Given the description of an element on the screen output the (x, y) to click on. 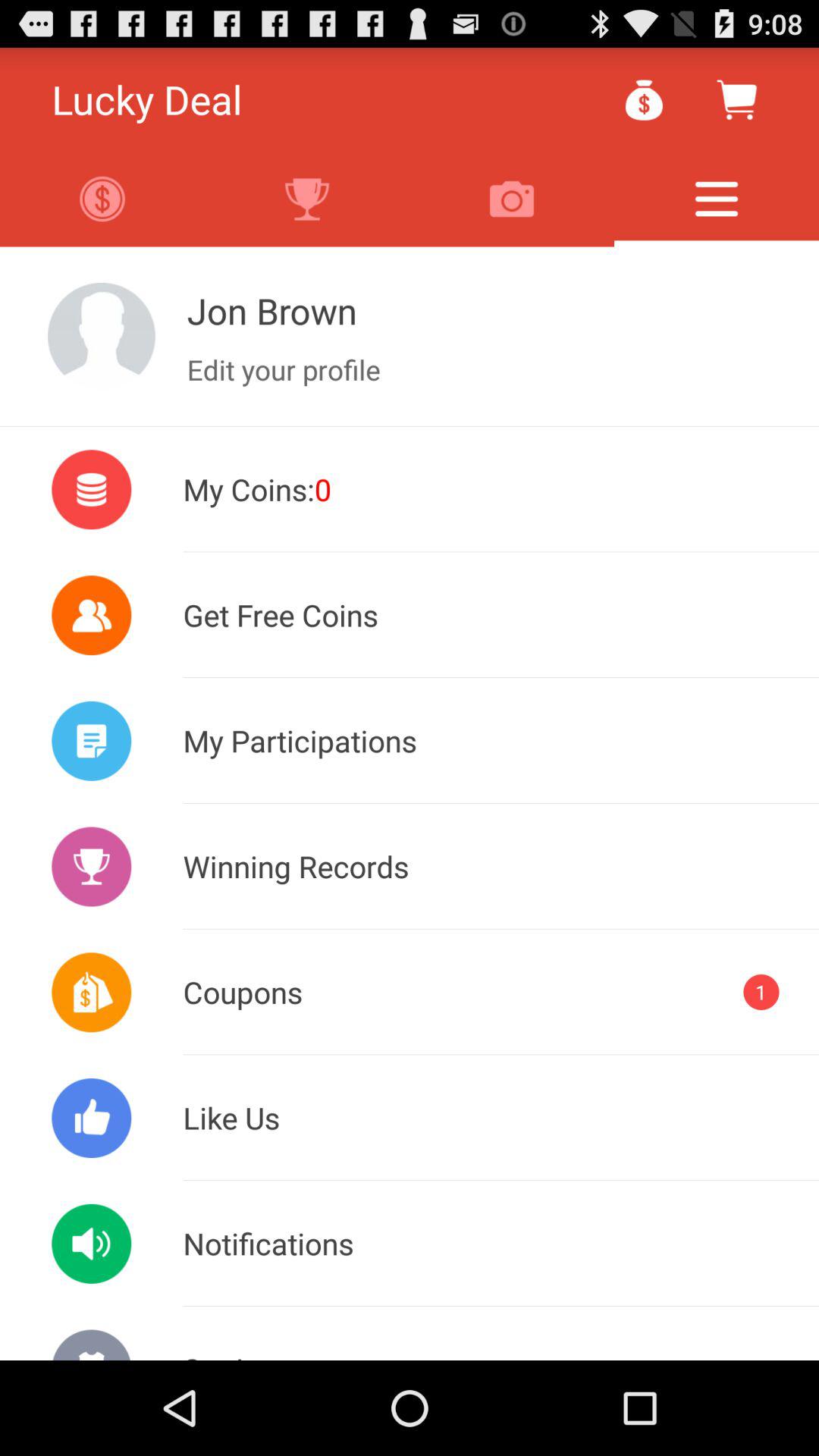
go to purchase (736, 99)
